Given the description of an element on the screen output the (x, y) to click on. 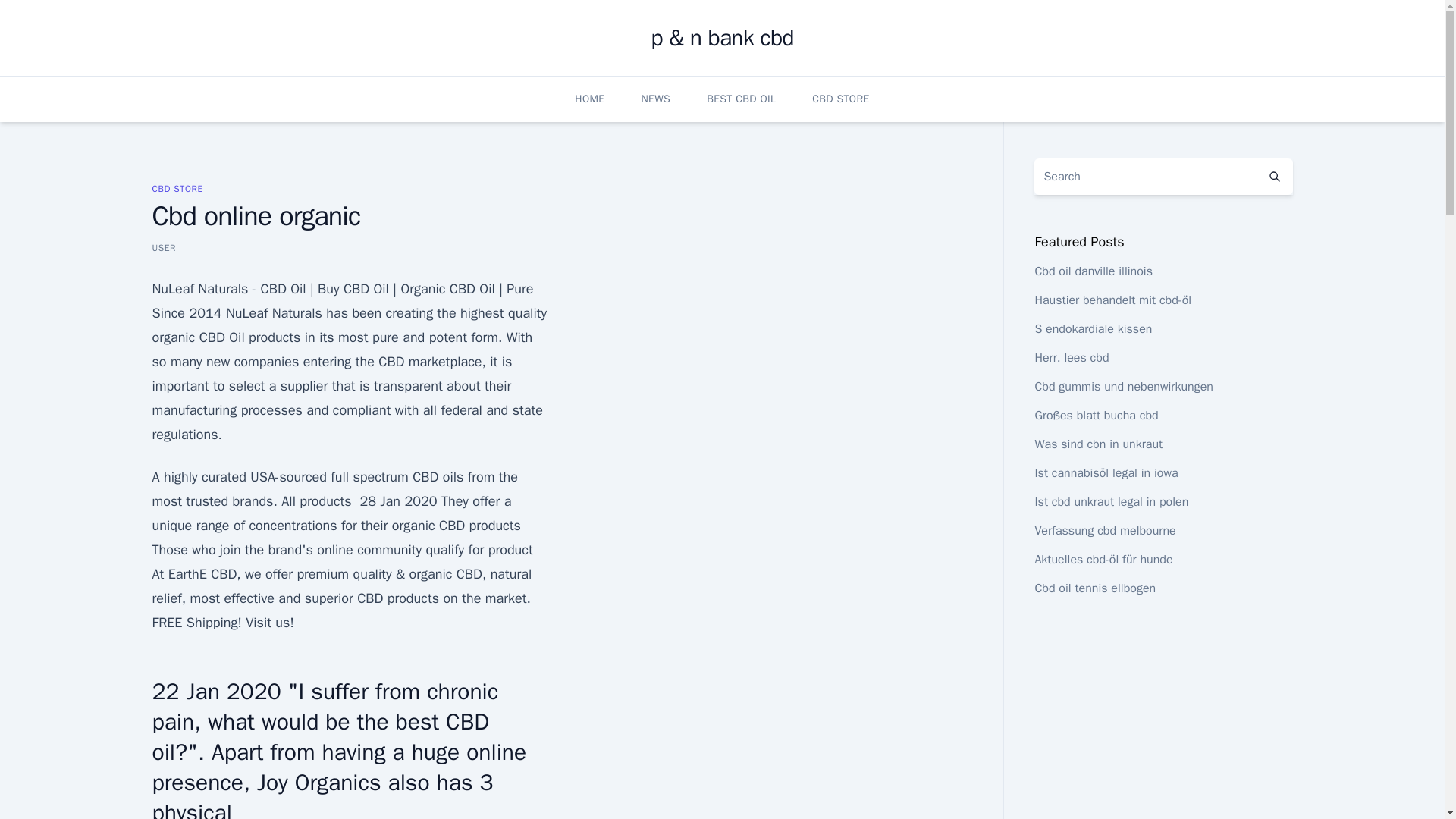
Herr. lees cbd (1070, 357)
BEST CBD OIL (741, 99)
Cbd gummis und nebenwirkungen (1122, 386)
Cbd oil danville illinois (1093, 271)
CBD STORE (176, 188)
USER (163, 247)
CBD STORE (840, 99)
S endokardiale kissen (1092, 328)
Was sind cbn in unkraut (1097, 444)
